Given the description of an element on the screen output the (x, y) to click on. 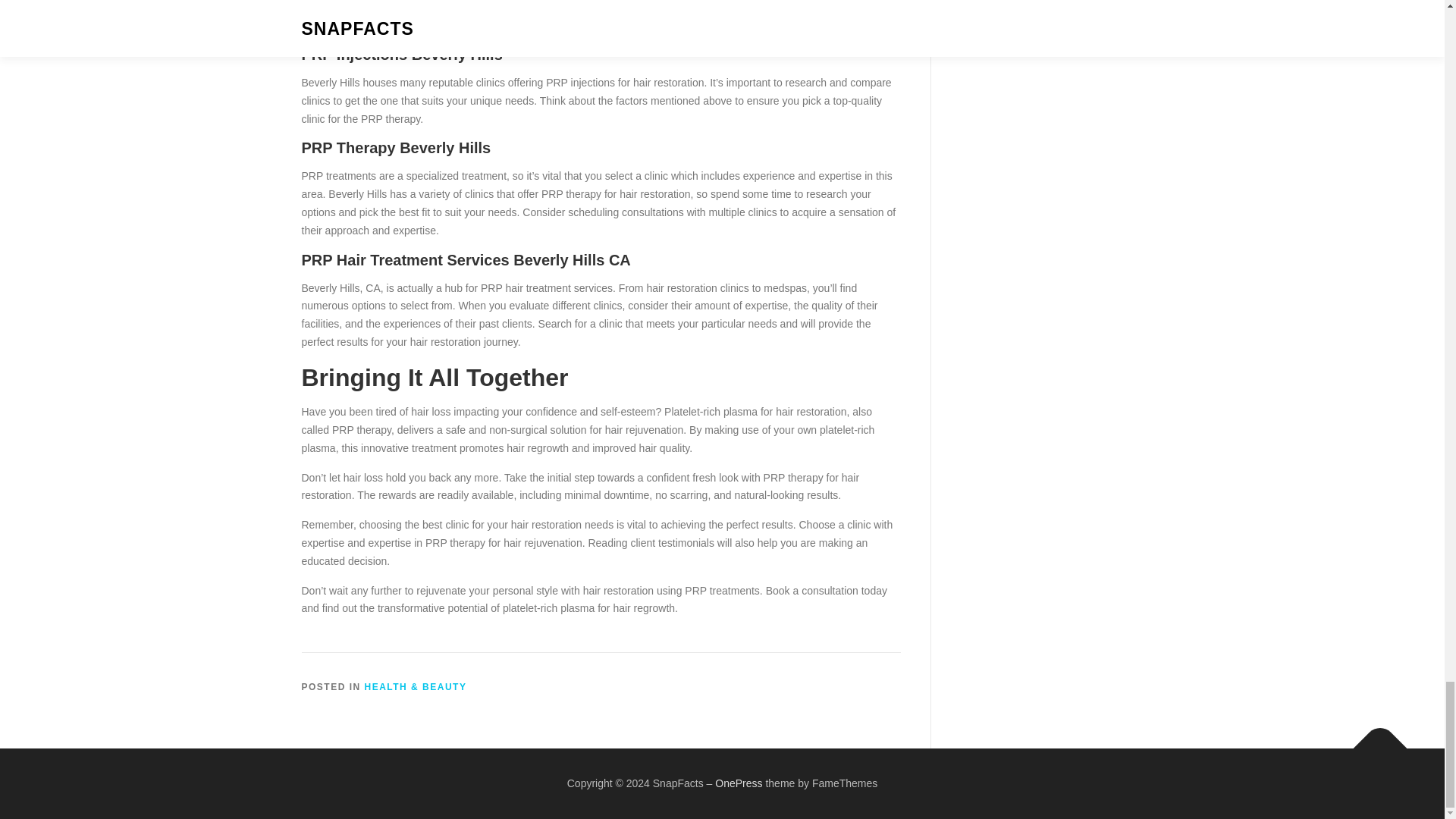
Back To Top (1372, 740)
